Given the description of an element on the screen output the (x, y) to click on. 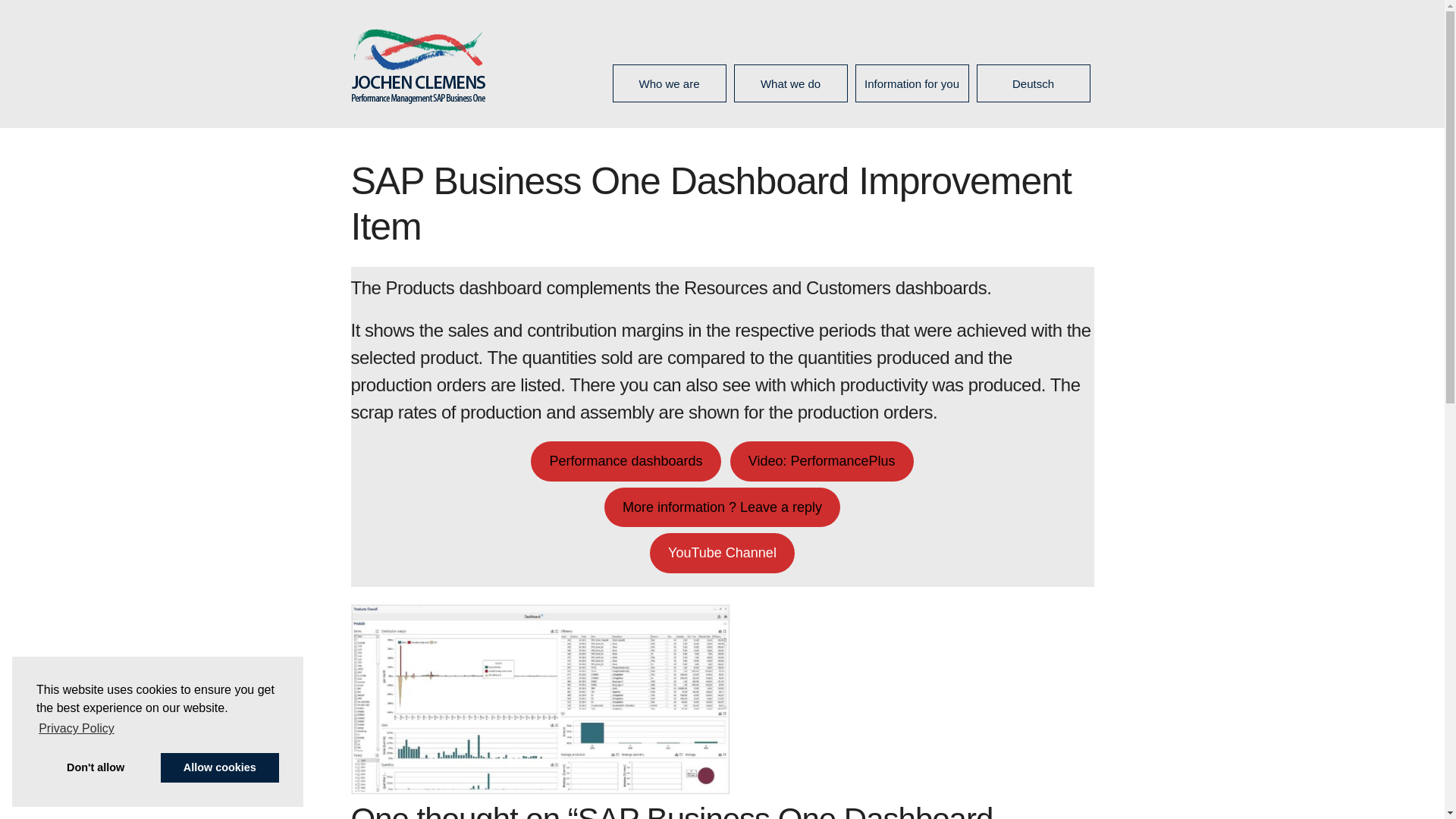
Deutsch (1032, 84)
Who we are (668, 84)
Allow cookies (219, 767)
More information ? Leave a reply (722, 507)
YouTube Channel (721, 553)
Don't allow (95, 767)
Performance dashboards (625, 461)
Privacy Policy (76, 728)
What we do (789, 84)
